Given the description of an element on the screen output the (x, y) to click on. 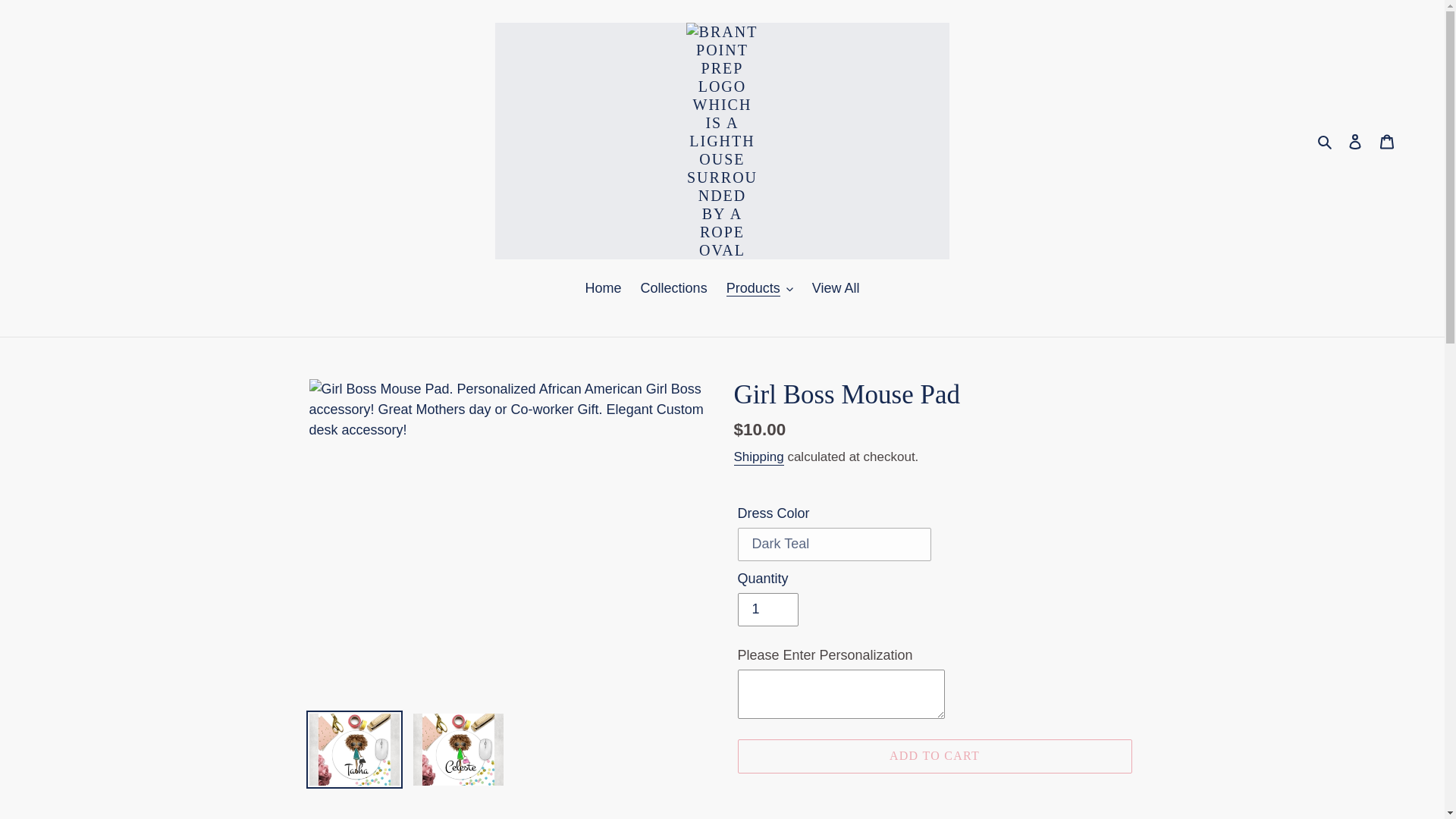
Log in (1355, 140)
1 (766, 609)
Home (603, 289)
Products (759, 289)
Search (1326, 141)
Collections (673, 289)
Cart (1387, 140)
